Given the description of an element on the screen output the (x, y) to click on. 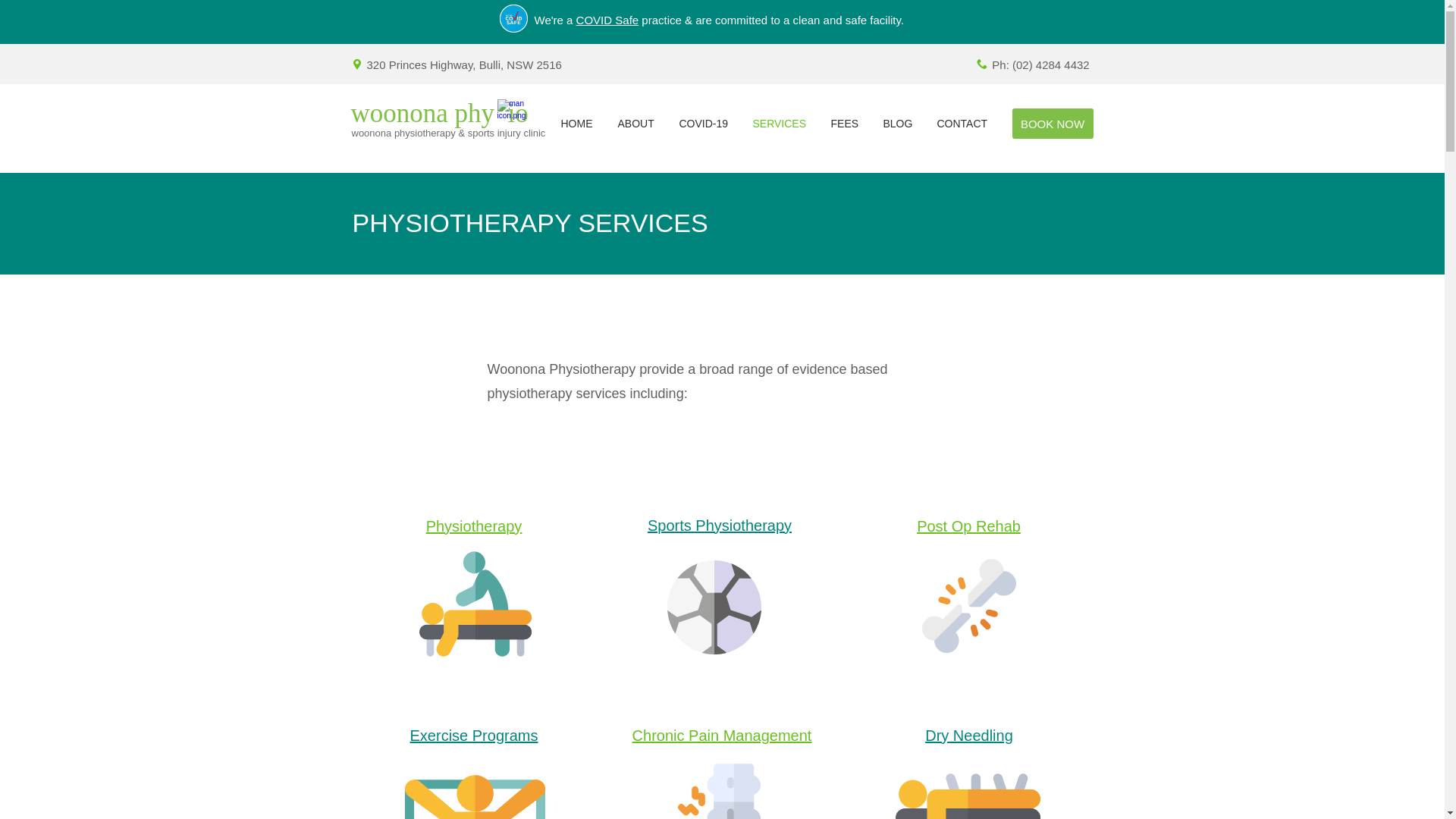
320 Princes Highway, Bulli, NSW 2516 (464, 64)
HOME (576, 123)
Sports Physiotherapy (719, 524)
BOOK NOW (1052, 123)
CONTACT (962, 123)
SERVICES (780, 123)
Chronic Pain Management (721, 735)
Post Op Rehab (968, 525)
Physiotherapy (474, 525)
BLOG (899, 123)
FEES (844, 123)
ABOUT (637, 123)
Exercise Programs (474, 735)
COVID-19 (703, 123)
COVID Safe (607, 19)
